Given the description of an element on the screen output the (x, y) to click on. 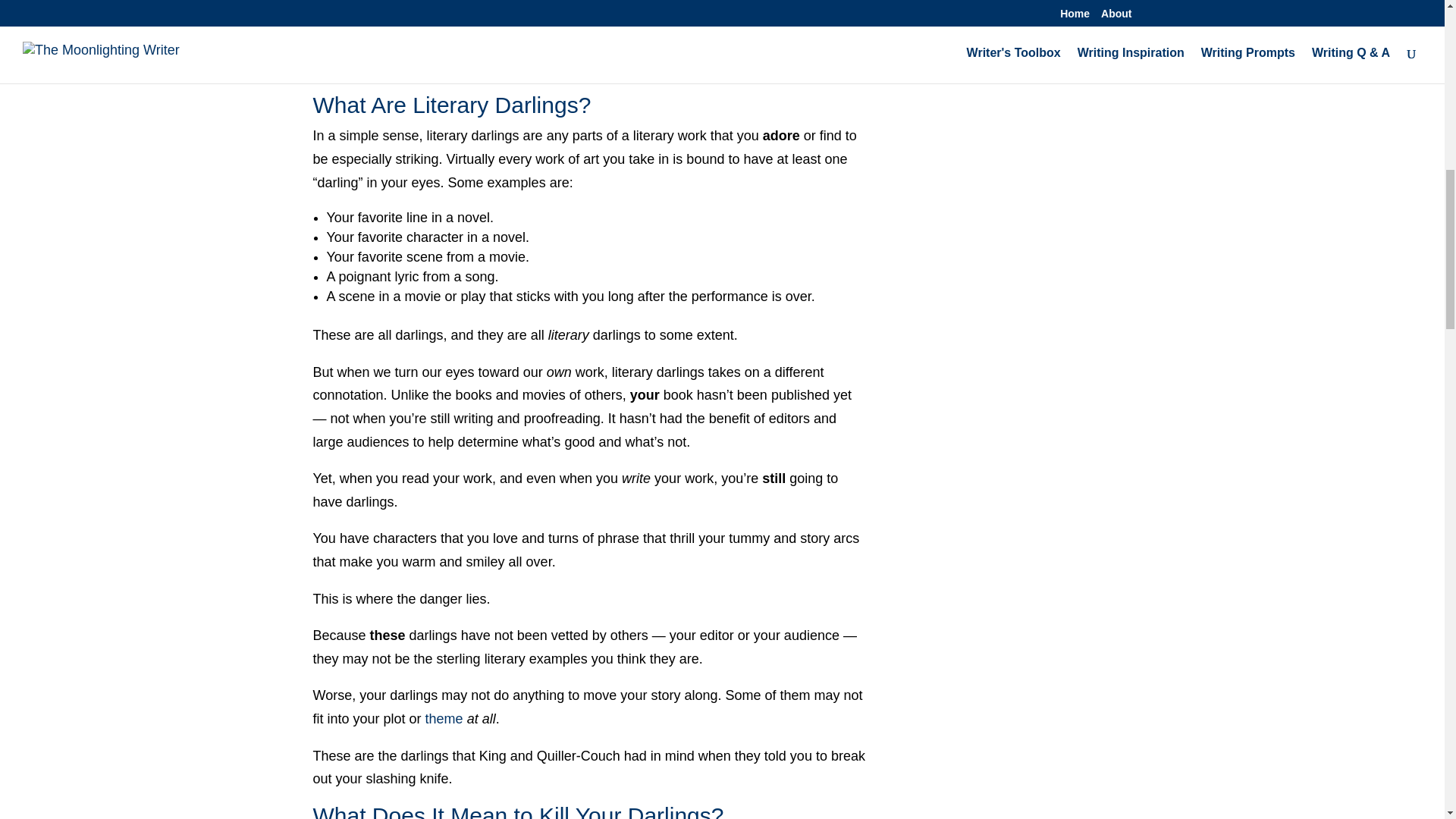
theme (444, 718)
